Given the description of an element on the screen output the (x, y) to click on. 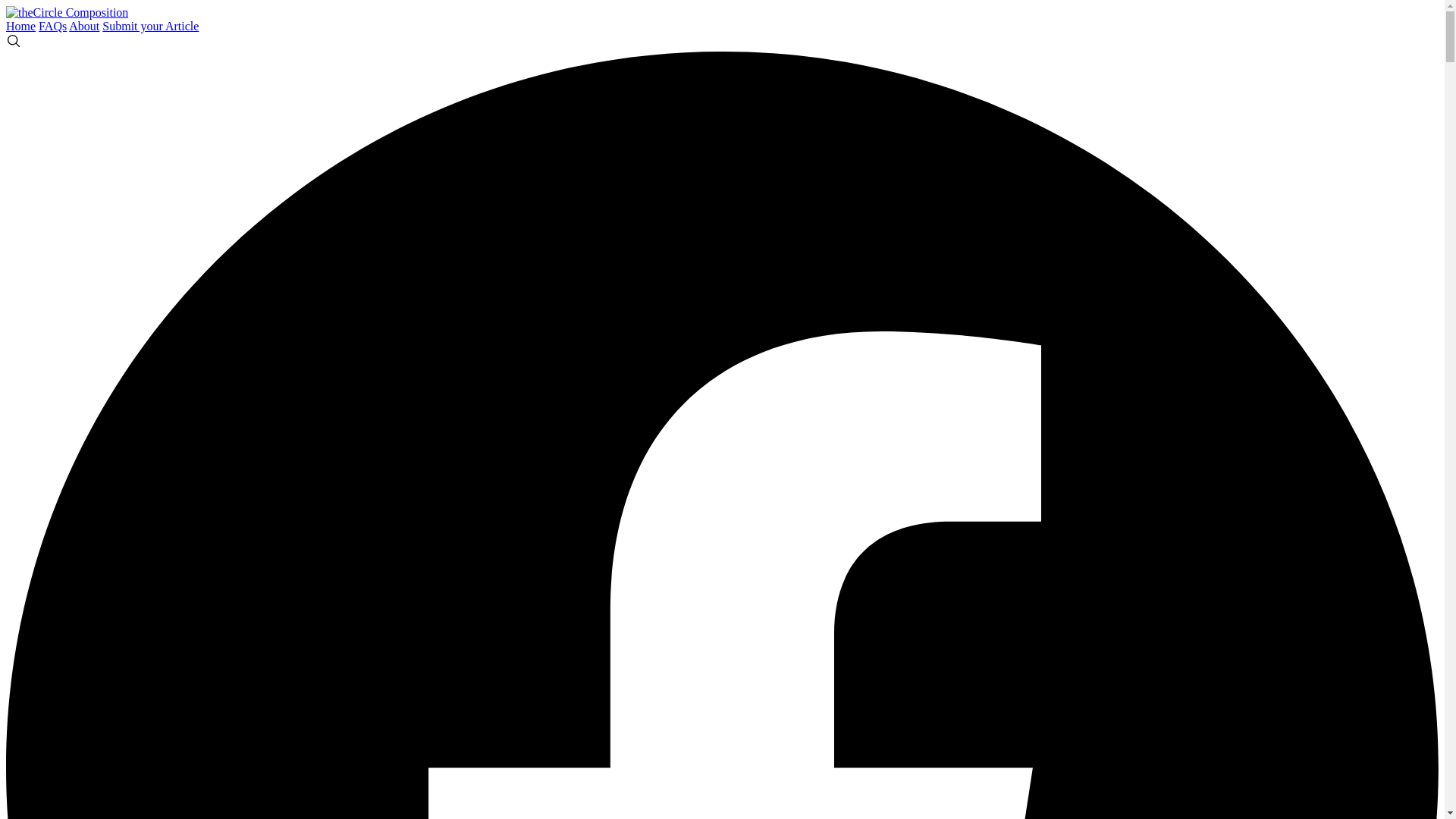
Home (19, 25)
FAQs (52, 25)
About (83, 25)
Submit your Article (149, 25)
